Given the description of an element on the screen output the (x, y) to click on. 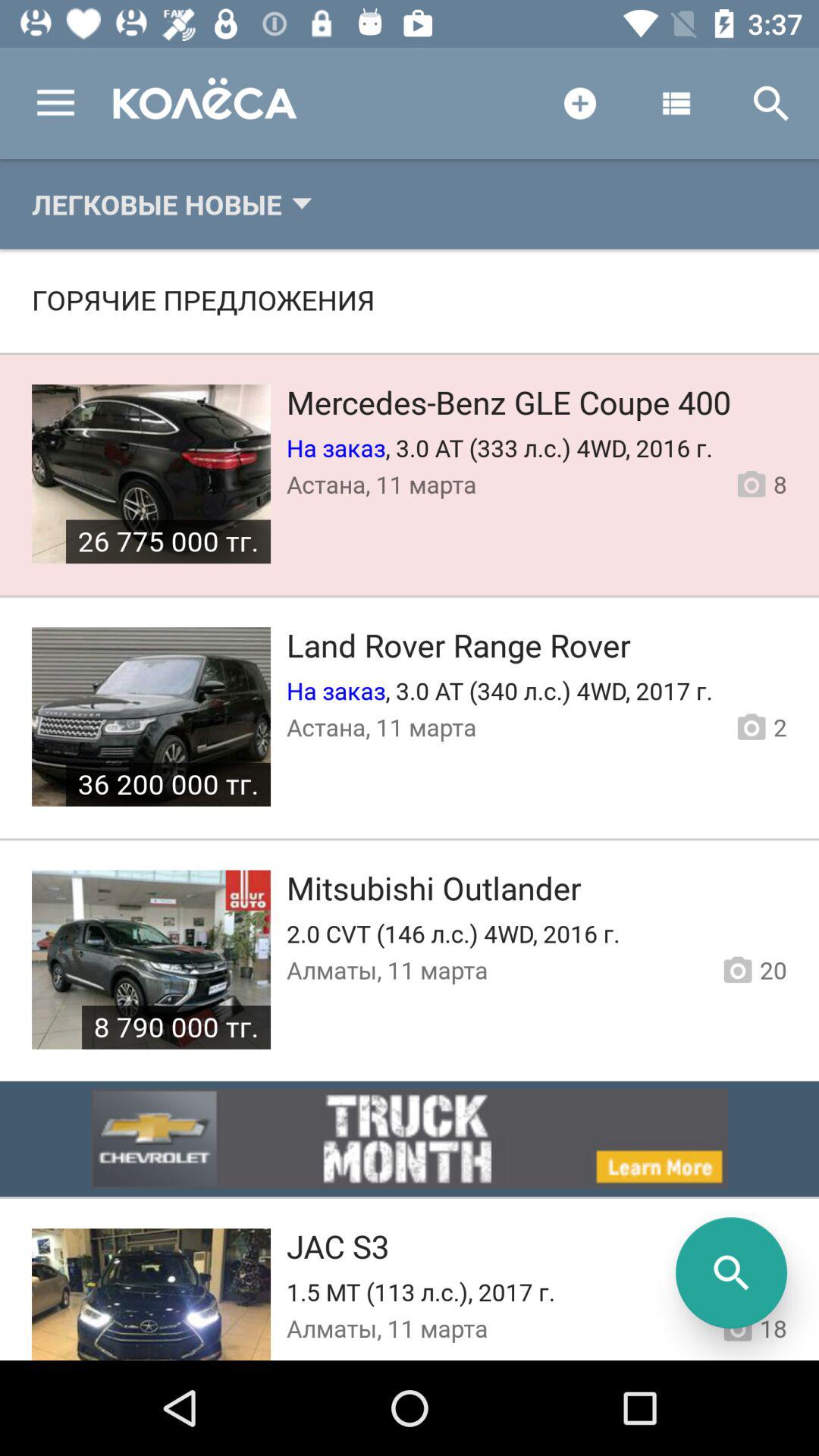
click on the icon beside search icon (675, 103)
